Given the description of an element on the screen output the (x, y) to click on. 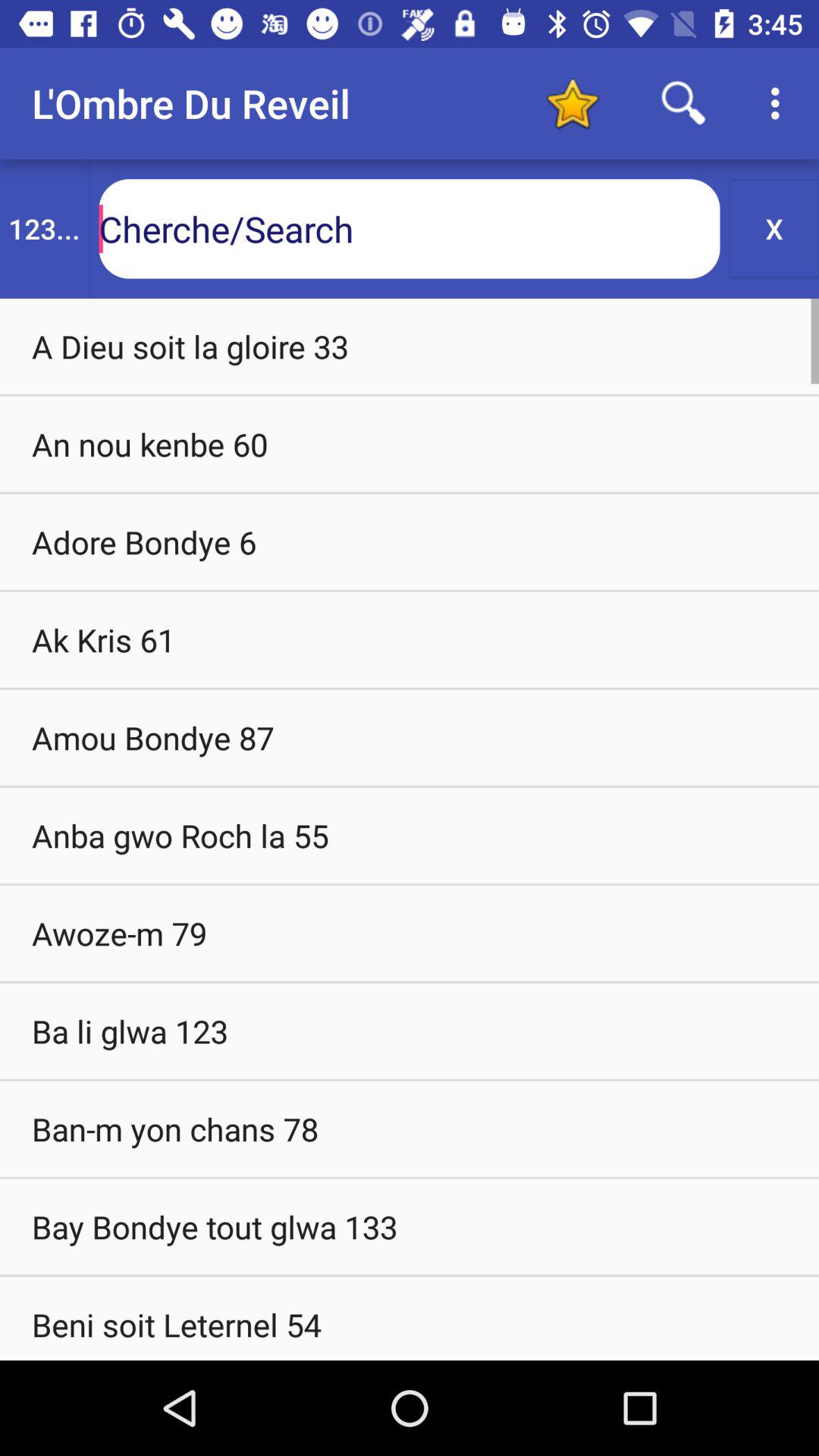
toggle the favourite option (571, 103)
